Given the description of an element on the screen output the (x, y) to click on. 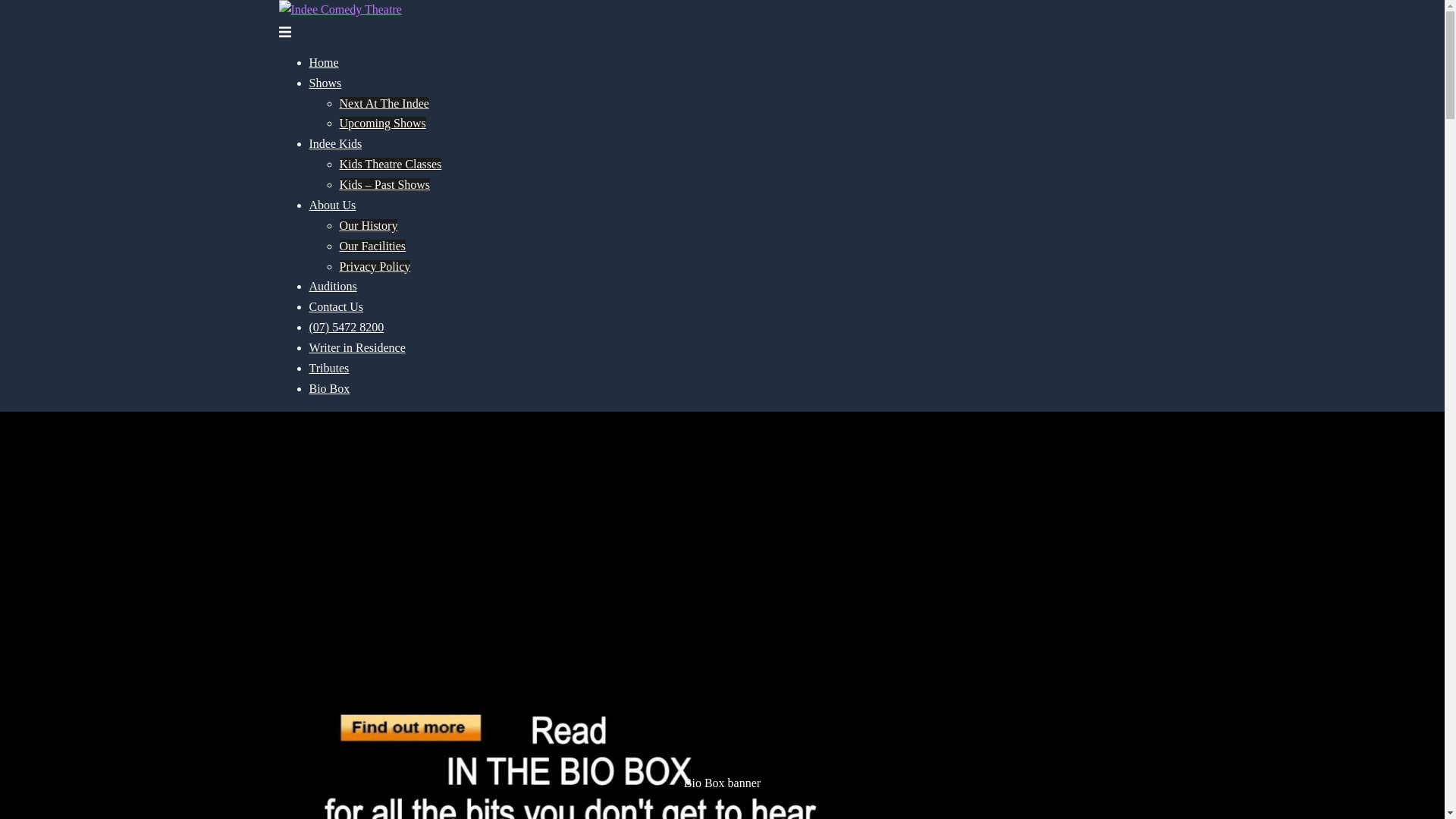
Privacy Policy Element type: text (375, 265)
Home Element type: text (323, 62)
Our Facilities Element type: text (372, 245)
Writer in Residence Element type: text (357, 347)
(07) 5472 8200 Element type: text (346, 326)
Kids Theatre Classes Element type: text (390, 163)
Tributes Element type: text (329, 367)
Indee Comedy Theatre Element type: hover (340, 9)
Auditions Element type: text (333, 285)
Indee Kids Element type: text (335, 143)
Contact Us Element type: text (336, 306)
About Us Element type: text (332, 204)
Next At The Indee Element type: text (384, 103)
Upcoming Shows Element type: text (382, 122)
Our History Element type: text (368, 225)
Bio Box Element type: text (329, 388)
Shows Element type: text (325, 82)
